Given the description of an element on the screen output the (x, y) to click on. 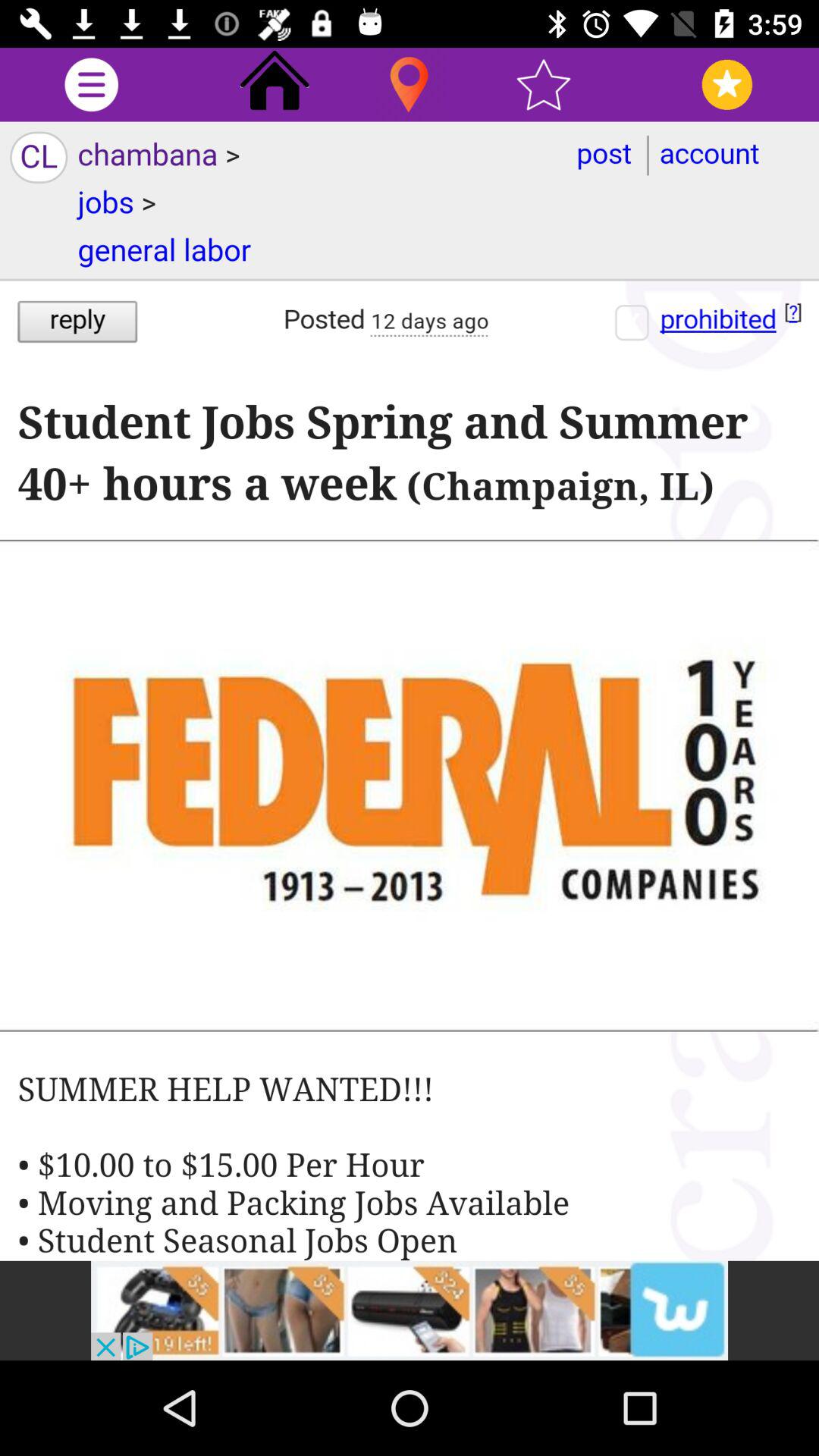
location (409, 84)
